Given the description of an element on the screen output the (x, y) to click on. 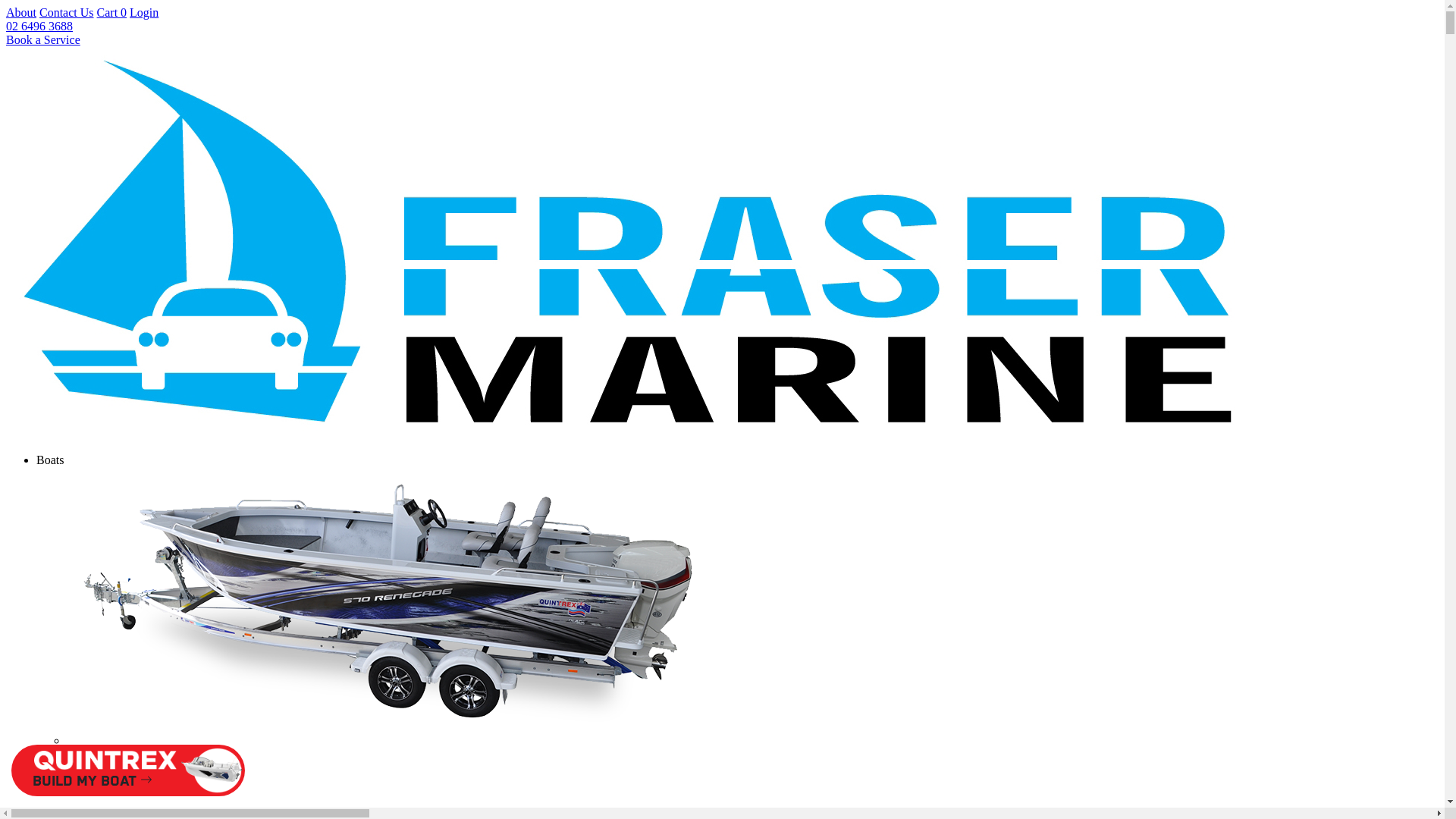
About Element type: text (21, 12)
Book a Service Element type: text (43, 39)
Quintrex Range Element type: text (752, 620)
Cart 0 Element type: text (112, 12)
Boats Element type: text (49, 459)
02 6496 3688 Element type: text (39, 25)
Contact Us Element type: text (66, 12)
Login Element type: text (143, 12)
